Given the description of an element on the screen output the (x, y) to click on. 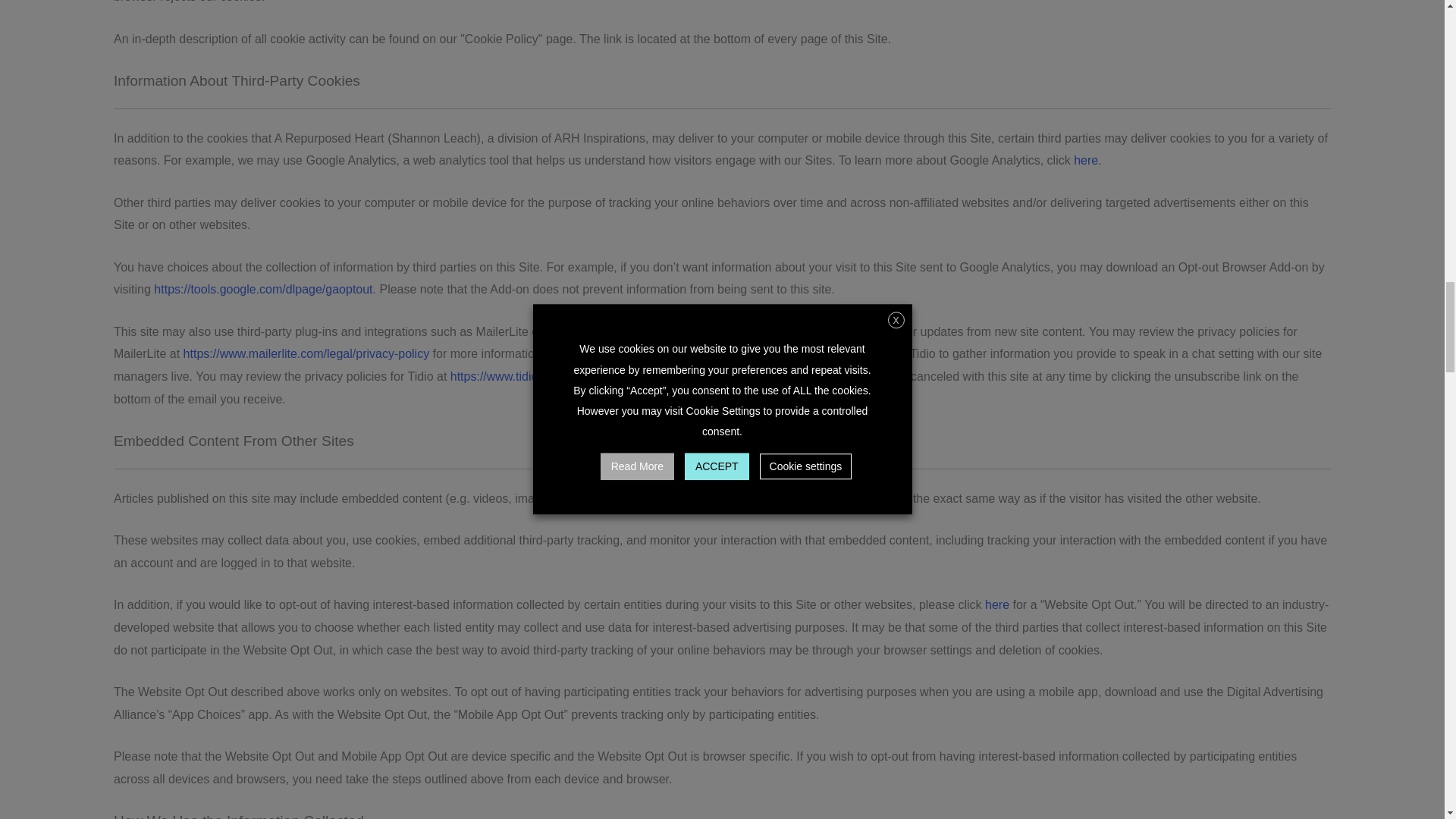
here (1085, 160)
here (997, 604)
